Given the description of an element on the screen output the (x, y) to click on. 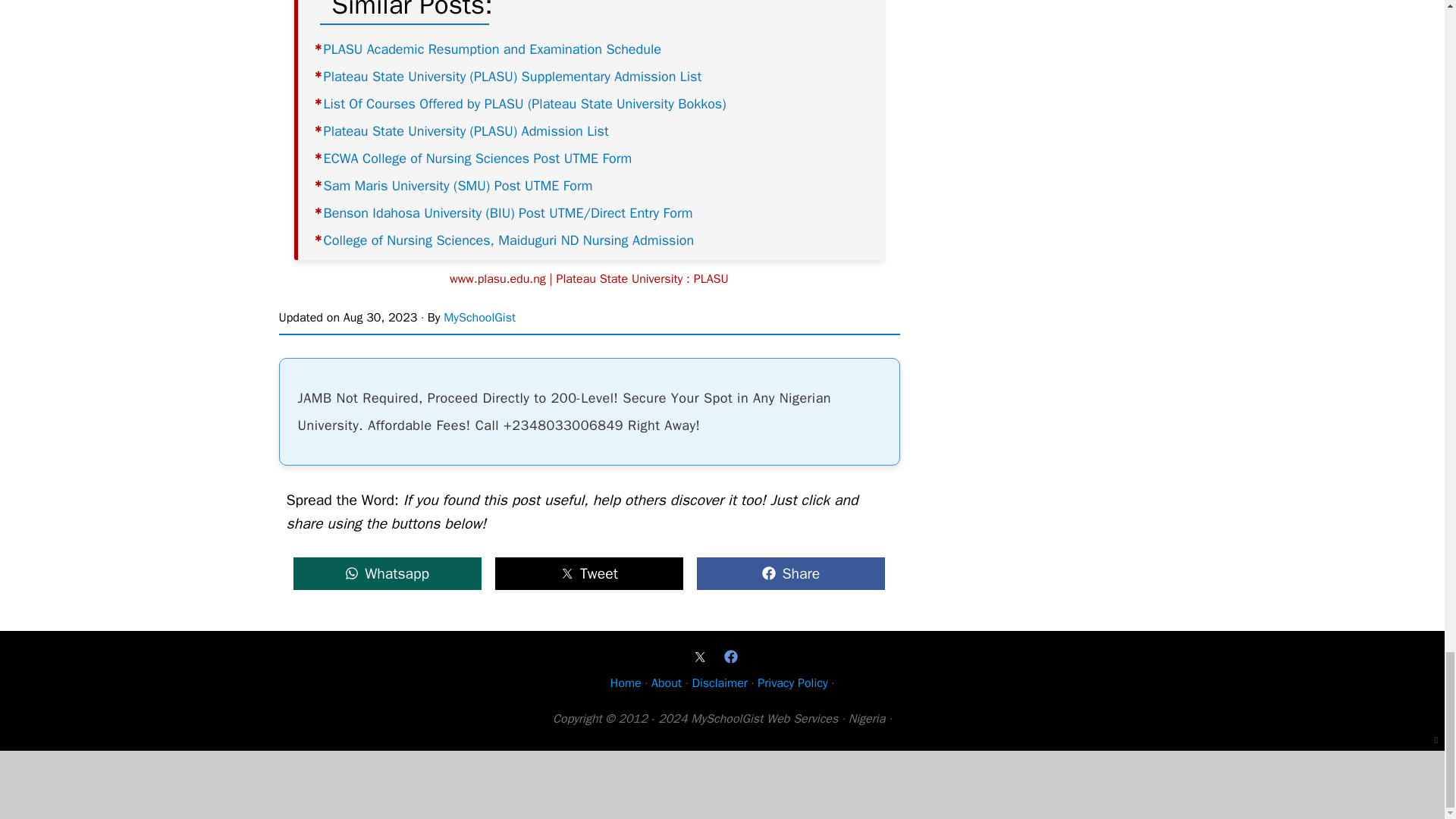
Share (790, 573)
ECWA College of Nursing Sciences Post UTME Form (477, 158)
About (665, 683)
Repost this on X! (589, 573)
Tweet (589, 573)
Home (626, 683)
Privacy Policy (792, 683)
MySchoolGist (479, 317)
Whatsapp (386, 573)
Share on Facebook! (790, 573)
PLASU Academic Resumption and Examination Schedule (492, 48)
College of Nursing Sciences, Maiduguri ND Nursing Admission (508, 239)
Disclaimer (718, 683)
